Given the description of an element on the screen output the (x, y) to click on. 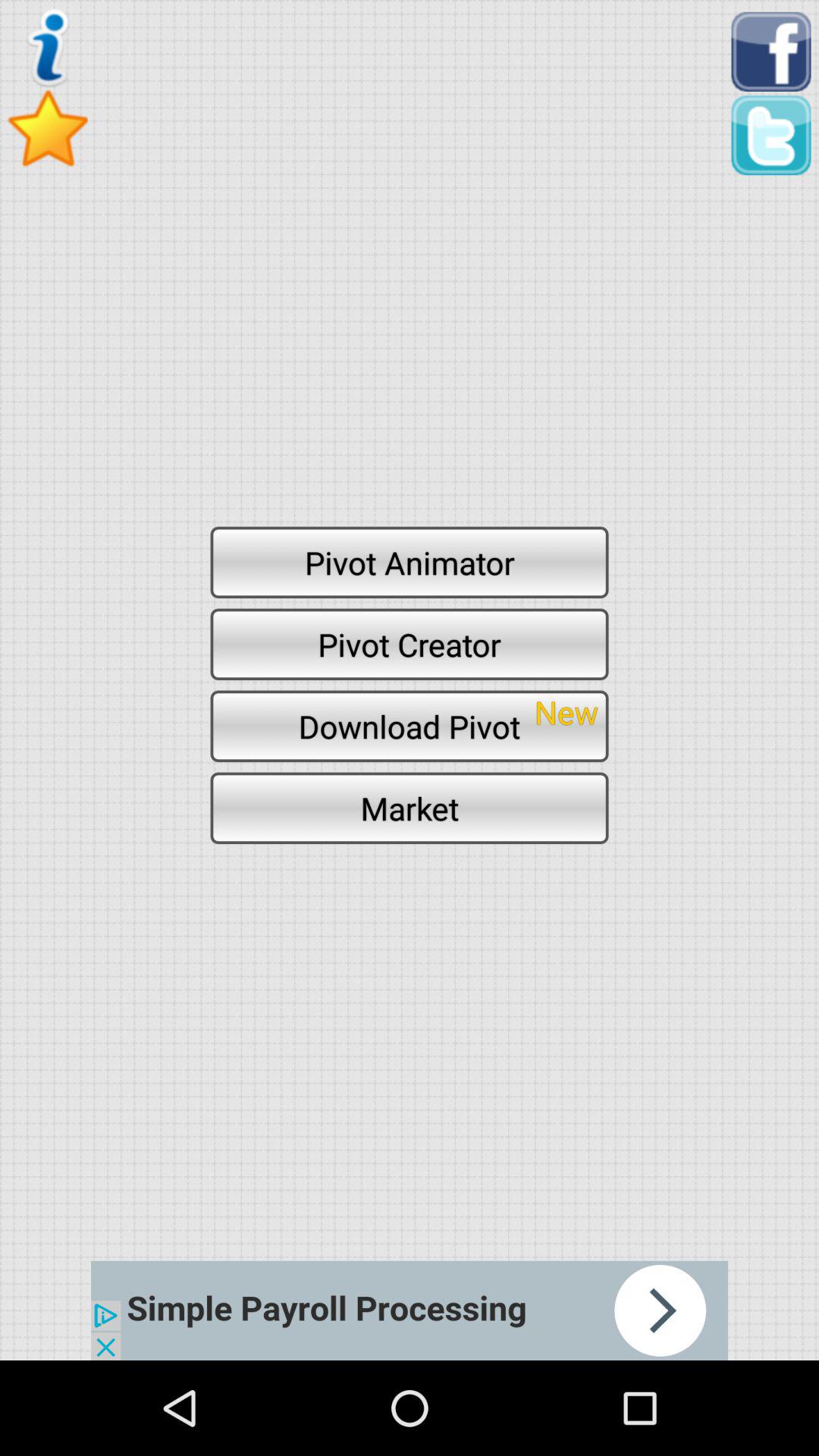
scroll until pivot animator item (409, 562)
